Given the description of an element on the screen output the (x, y) to click on. 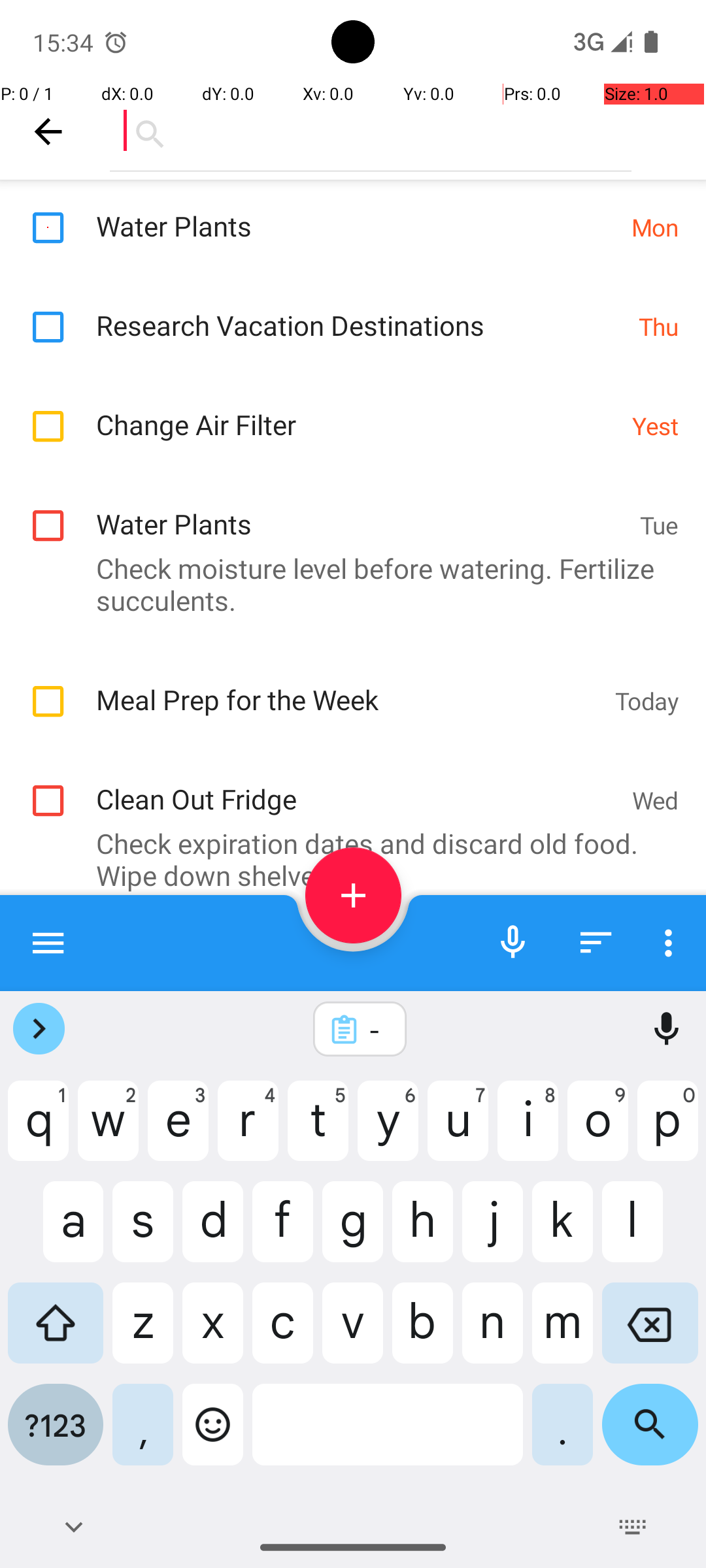
    Element type: android.widget.AutoCompleteTextView (370, 130)
